Given the description of an element on the screen output the (x, y) to click on. 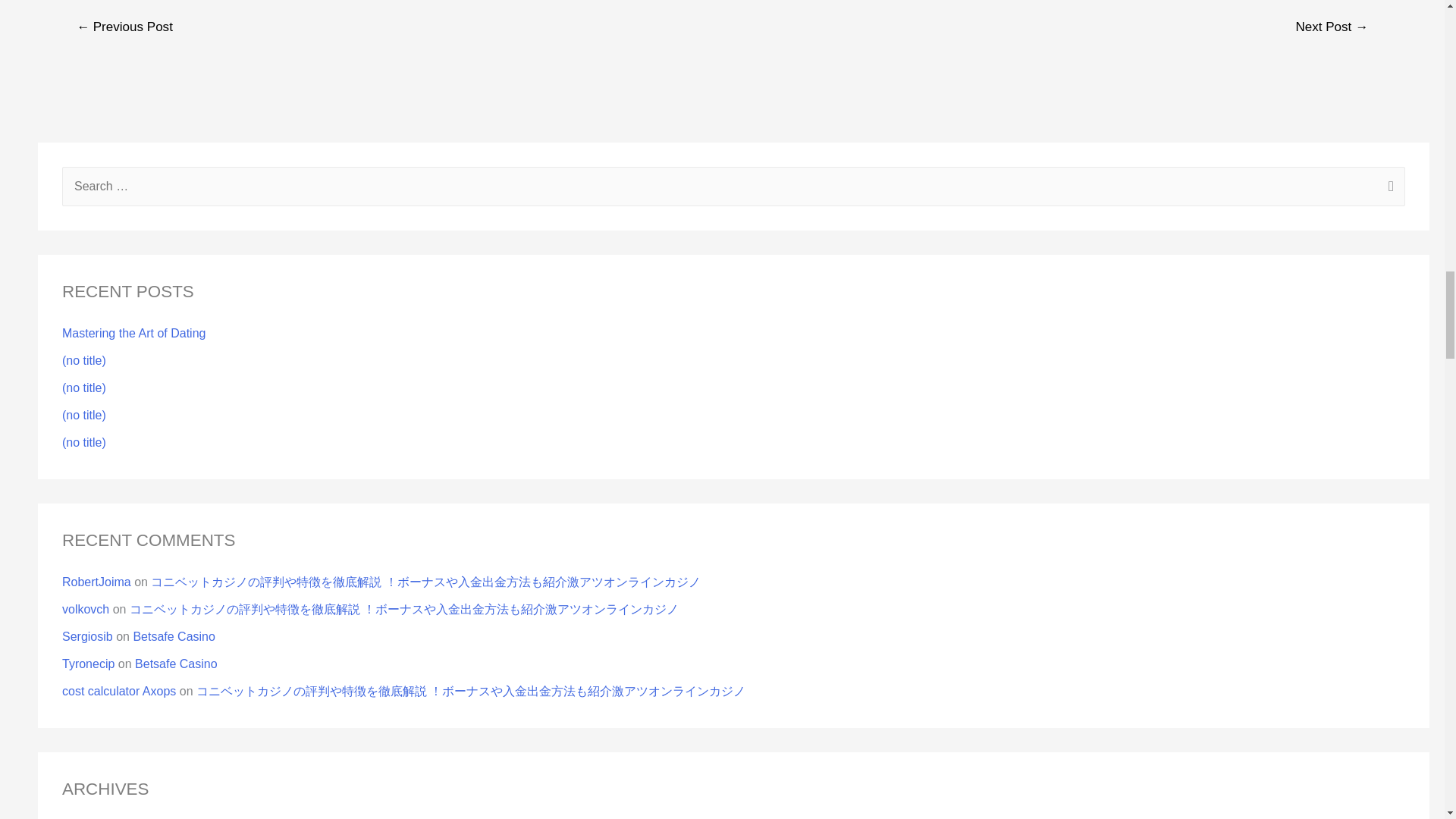
Sergiosib (87, 635)
Betsafe Casino (173, 635)
Mastering the Art of Dating (133, 332)
volkovch (85, 608)
Betsafe Casino (175, 663)
RobertJoima (96, 581)
cost calculator Axops (119, 690)
Tyronecip (88, 663)
